Given the description of an element on the screen output the (x, y) to click on. 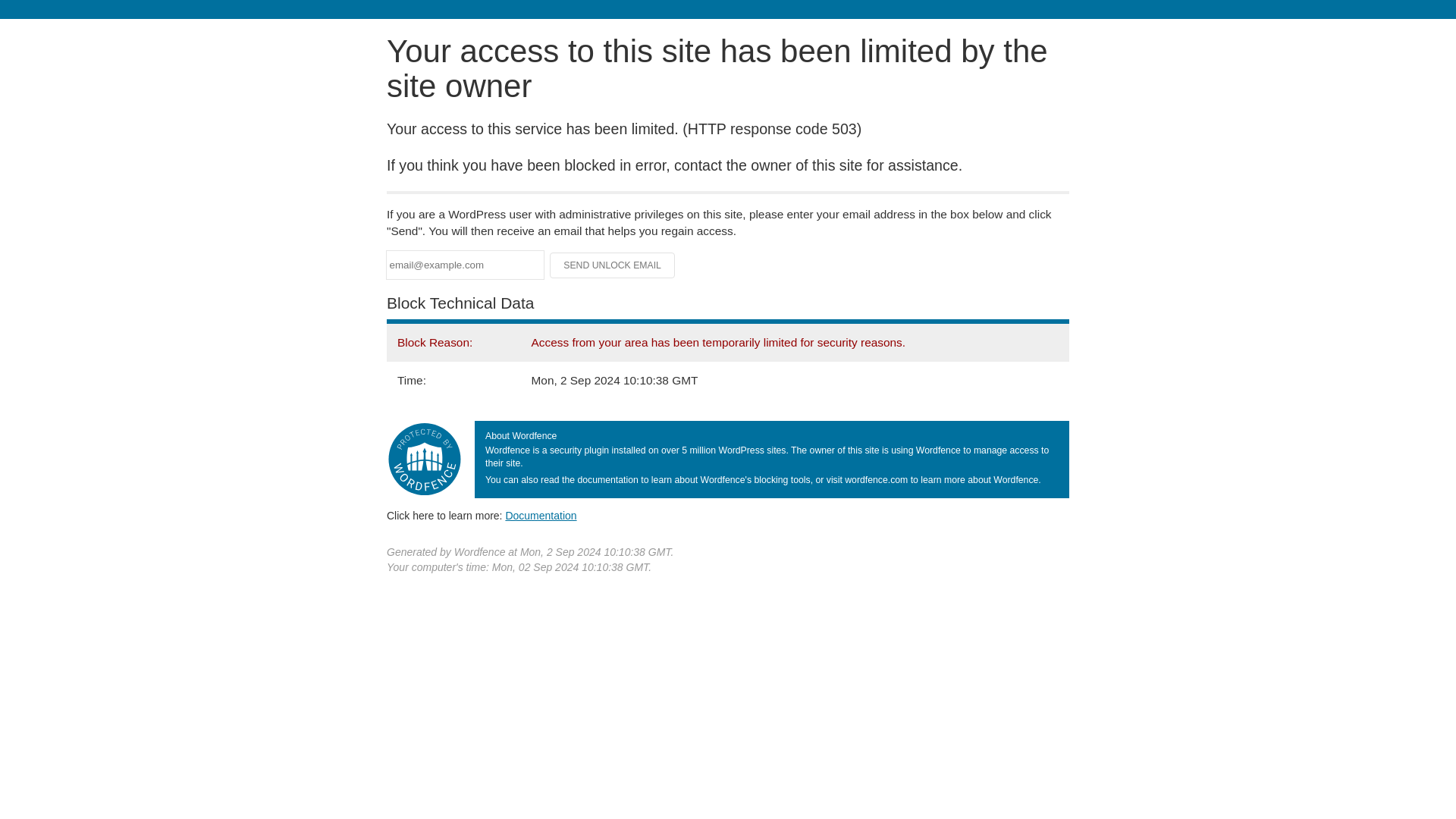
Send Unlock Email (612, 265)
Send Unlock Email (612, 265)
Documentation (540, 515)
